Given the description of an element on the screen output the (x, y) to click on. 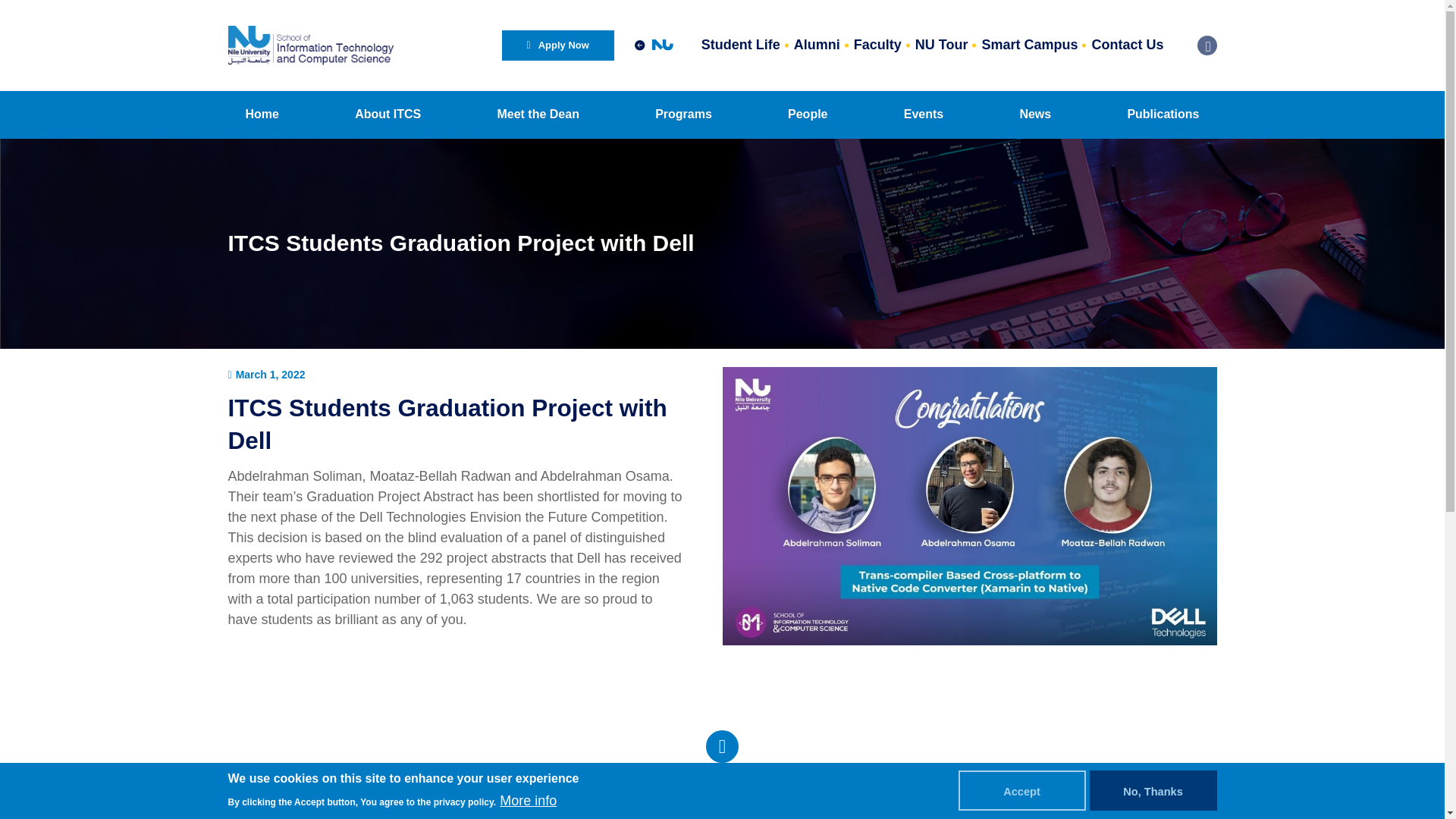
People (807, 114)
News (1034, 114)
Contact Us (1127, 45)
Main site (654, 44)
Home (261, 114)
Alumni (817, 45)
Programs (683, 114)
About ITCS (387, 114)
NU Tour (941, 45)
Events (923, 114)
